Given the description of an element on the screen output the (x, y) to click on. 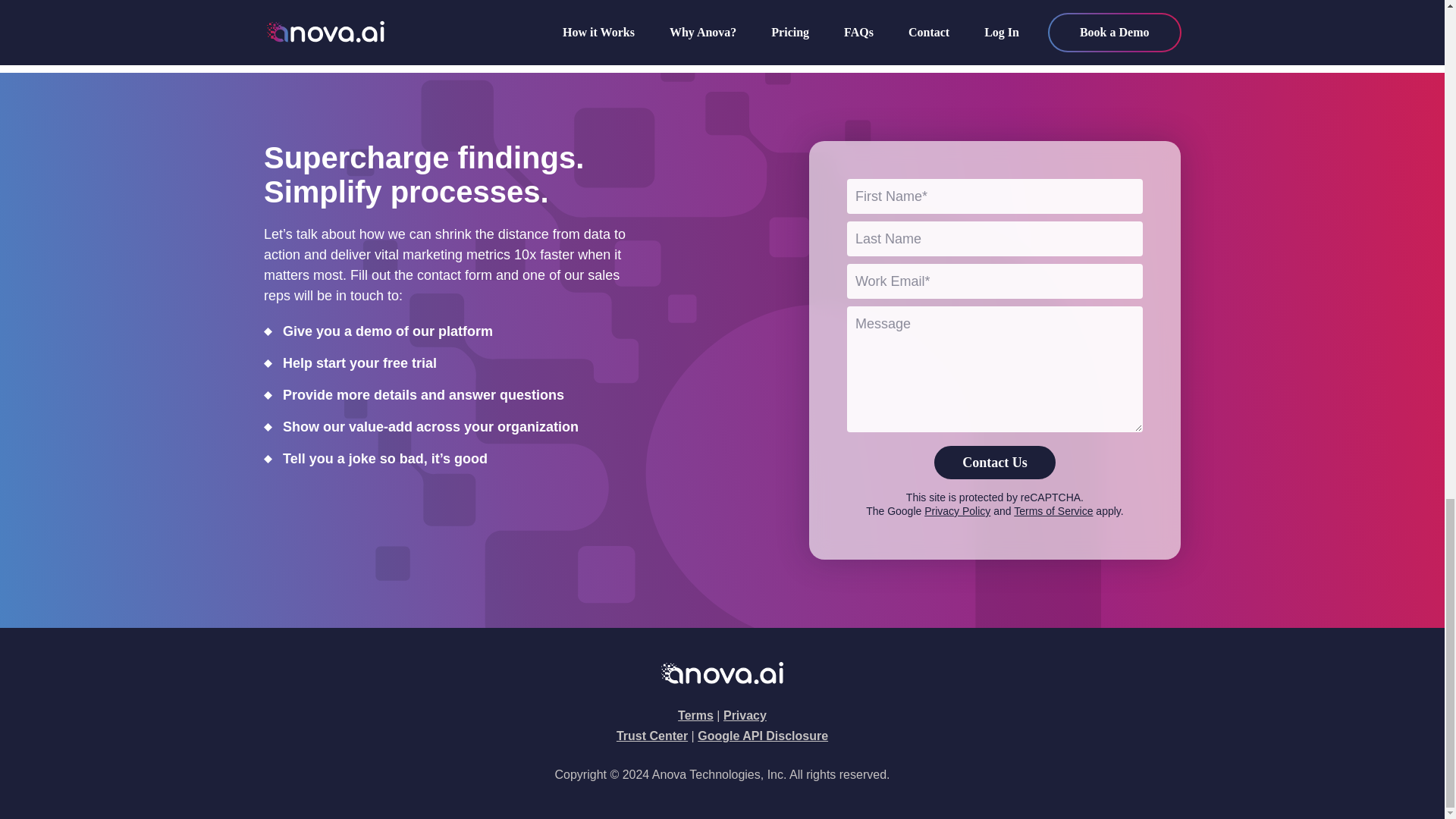
Contact Us (994, 462)
Terms of Service (1053, 510)
Privacy Policy (957, 510)
Contact Us (994, 462)
Terms (695, 715)
Privacy (745, 715)
